Given the description of an element on the screen output the (x, y) to click on. 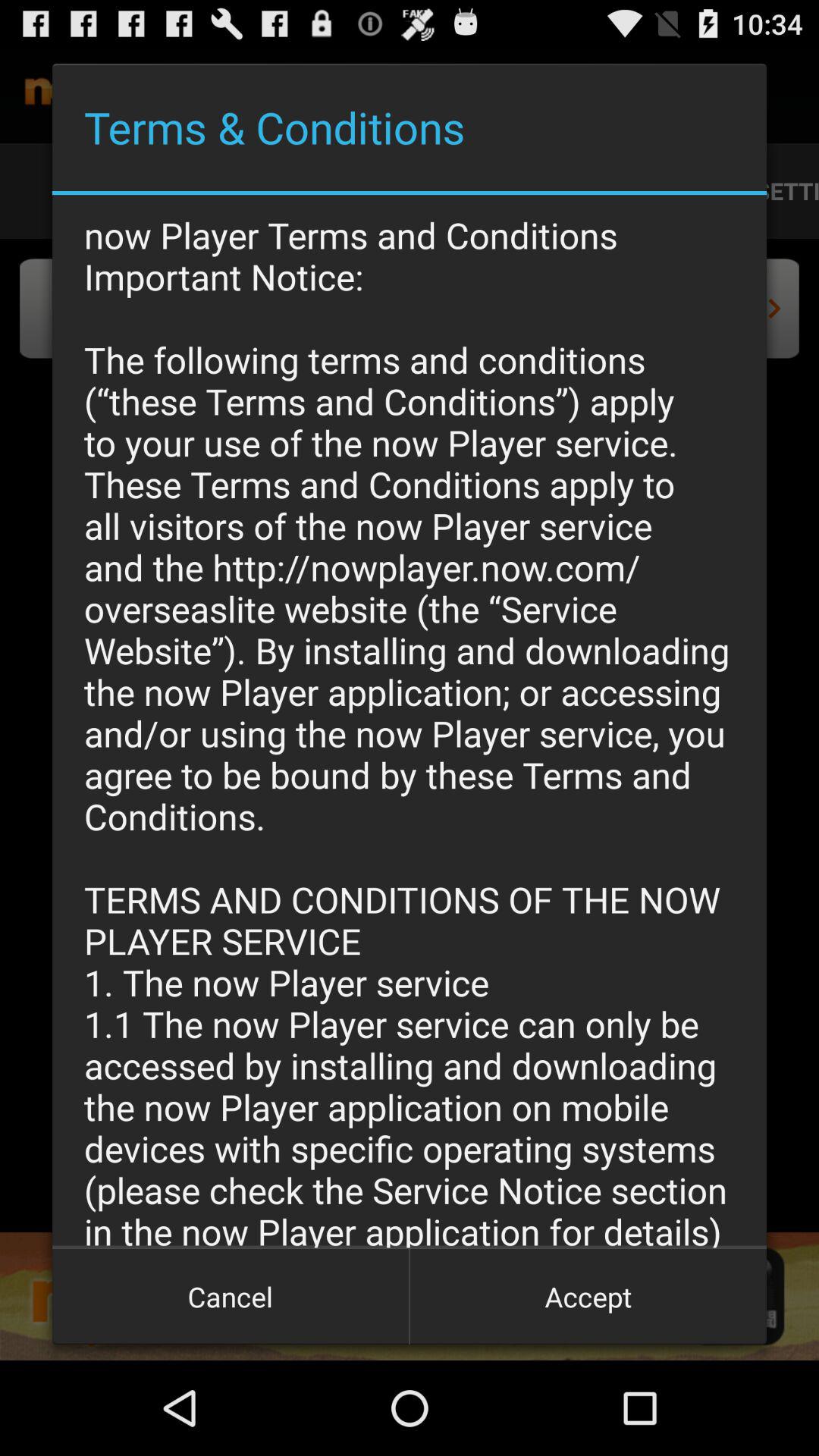
click icon next to cancel icon (588, 1296)
